Given the description of an element on the screen output the (x, y) to click on. 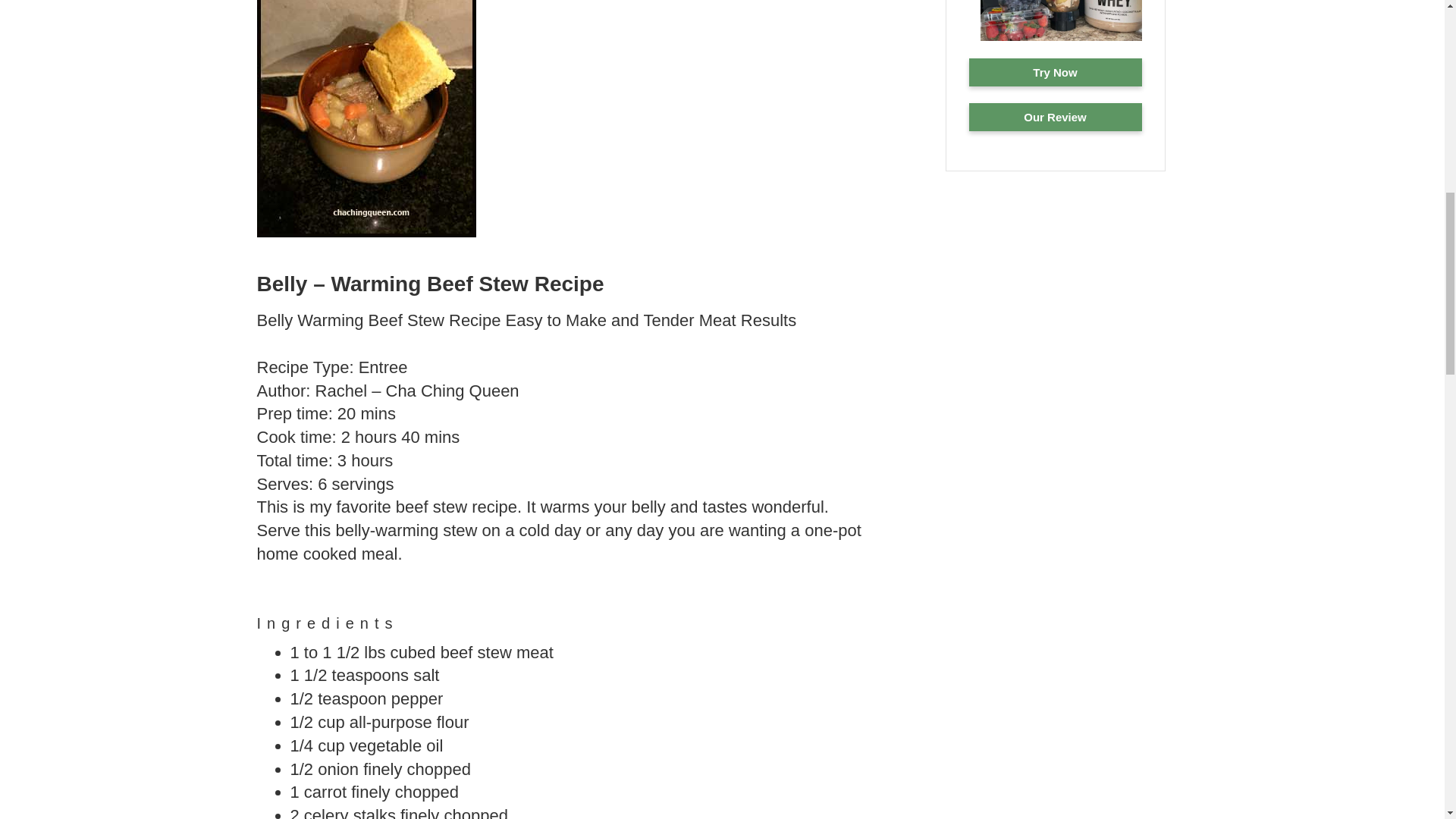
Naked Nutrition Whey Protein (1055, 117)
Naked Nutrition Whey Protein (1055, 72)
Naked Nutrition Whey Protein (1060, 38)
